Given the description of an element on the screen output the (x, y) to click on. 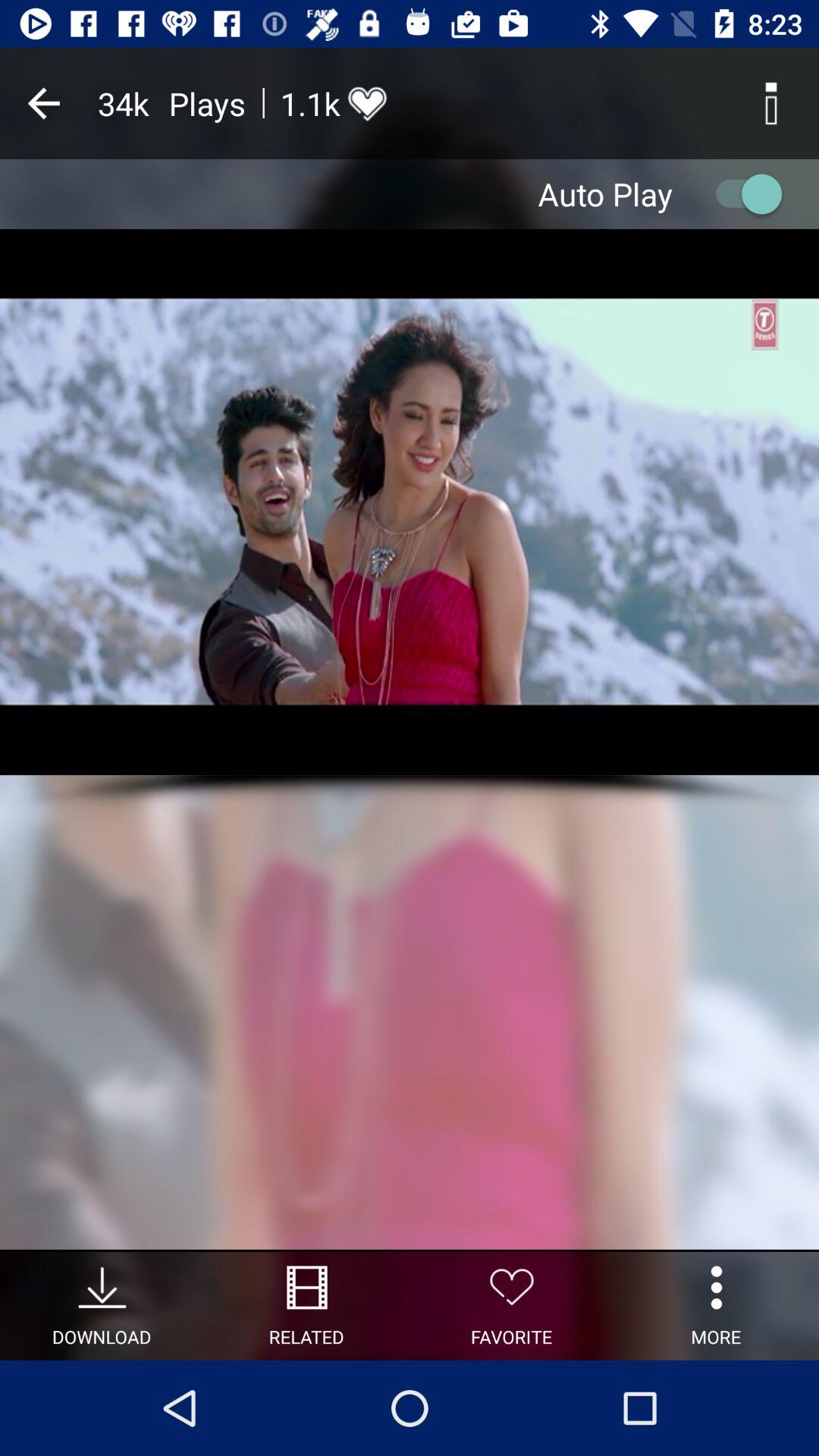
previous button (43, 103)
